Given the description of an element on the screen output the (x, y) to click on. 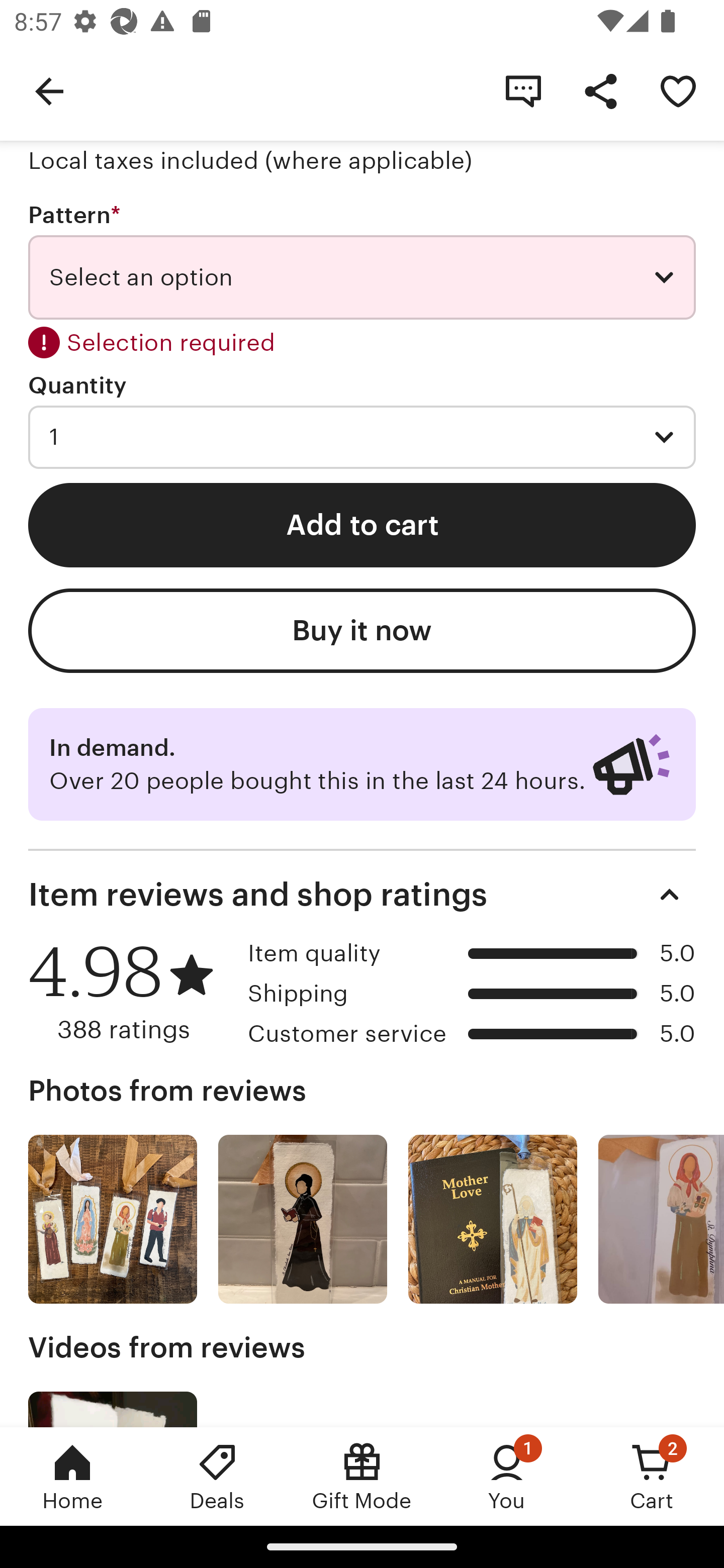
Navigate up (49, 90)
Contact shop (523, 90)
Share (600, 90)
Remove Watercolor Bookmarks from your favorites (678, 90)
Select an option (361, 277)
Quantity (77, 385)
1 (361, 437)
Add to cart (361, 524)
Buy it now (361, 630)
Item reviews and shop ratings (362, 894)
4.98 388 ratings (130, 992)
Photo from review (112, 1219)
Photo from review (302, 1219)
Photo from review (492, 1219)
Photo from review (661, 1219)
Deals (216, 1475)
Gift Mode (361, 1475)
You, 1 new notification You (506, 1475)
Cart, 2 new notifications Cart (651, 1475)
